Given the description of an element on the screen output the (x, y) to click on. 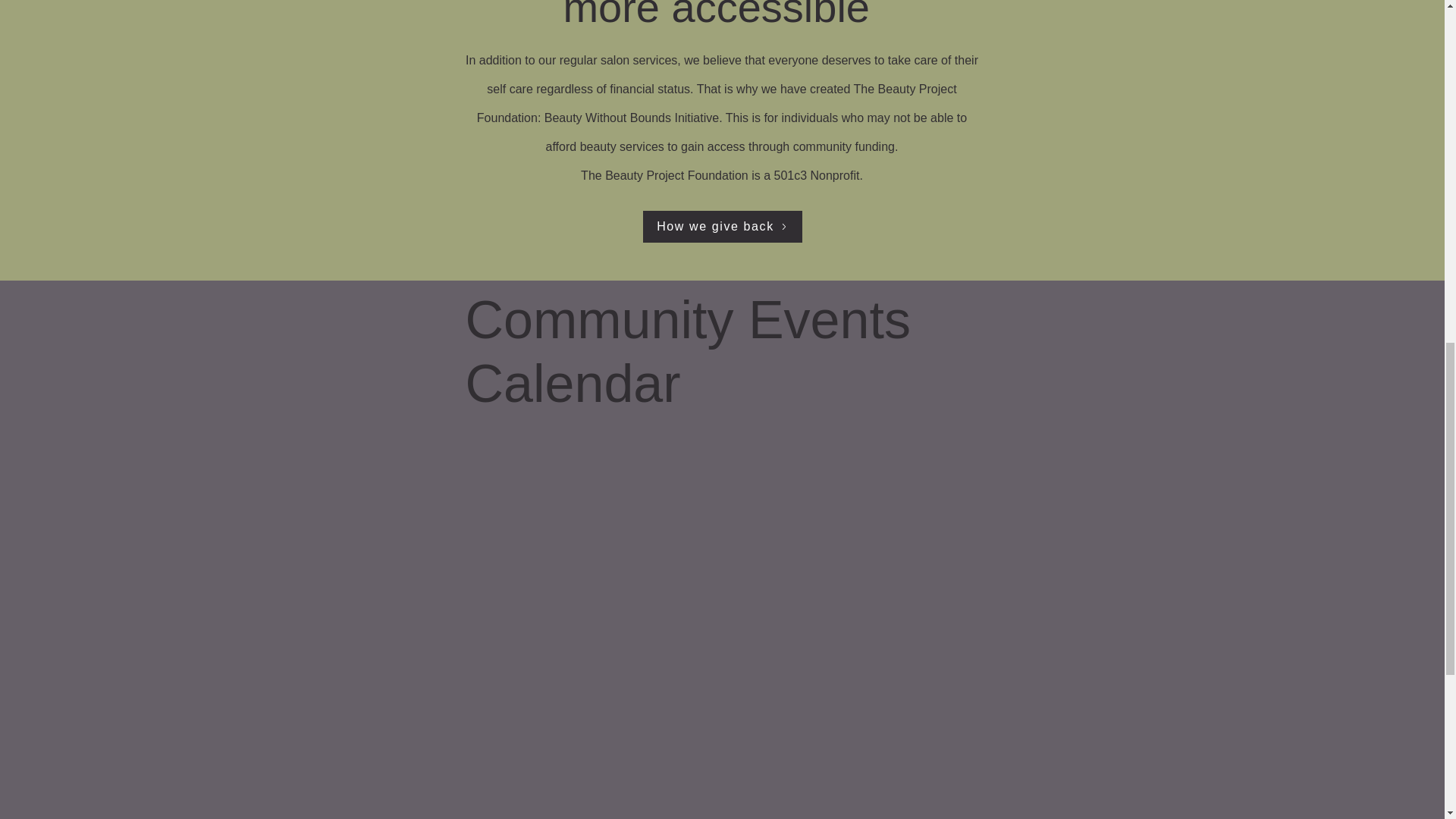
How we give back (722, 226)
